Given the description of an element on the screen output the (x, y) to click on. 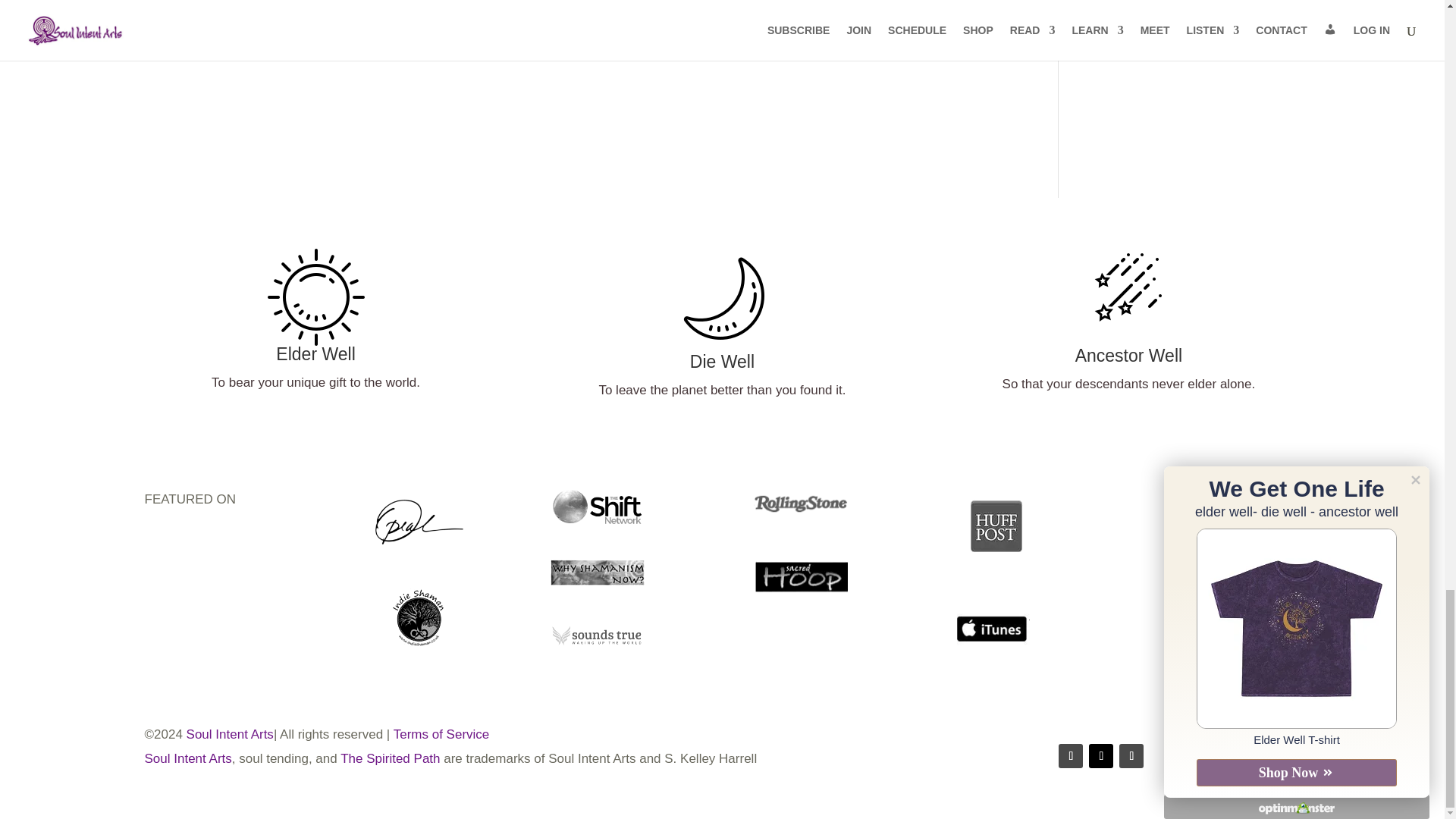
Submit Comment (919, 46)
